Given the description of an element on the screen output the (x, y) to click on. 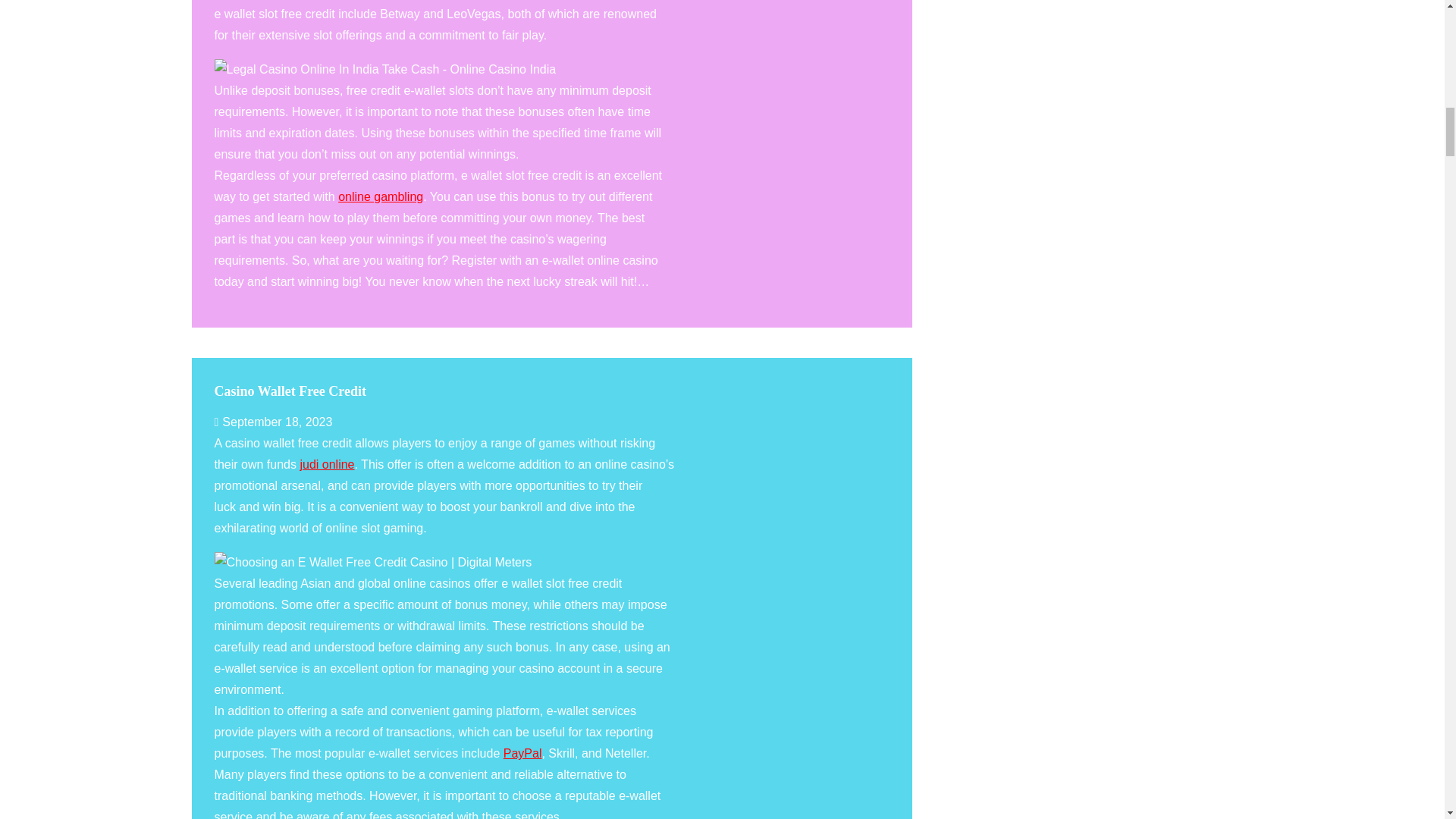
judi online (326, 463)
September 18, 2023 (272, 421)
PayPal (522, 753)
online gambling (380, 196)
Casino Wallet Free Credit (289, 391)
